Given the description of an element on the screen output the (x, y) to click on. 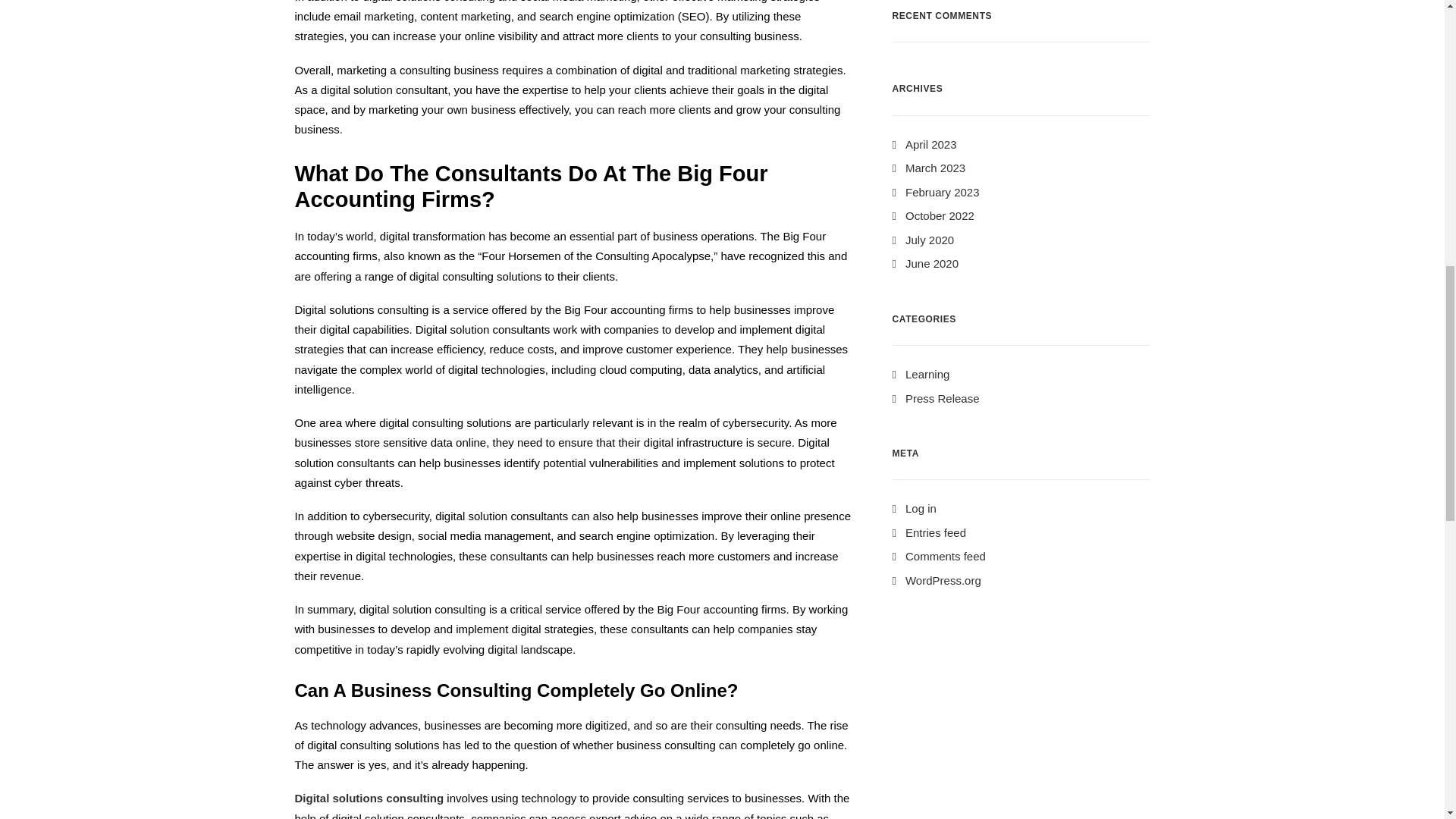
Entries feed (928, 532)
Comments feed (938, 555)
February 2023 (934, 192)
October 2022 (932, 215)
Press Release (934, 398)
July 2020 (922, 239)
Log in (913, 508)
Learning (920, 373)
April 2023 (923, 144)
WordPress.org (935, 580)
